Given the description of an element on the screen output the (x, y) to click on. 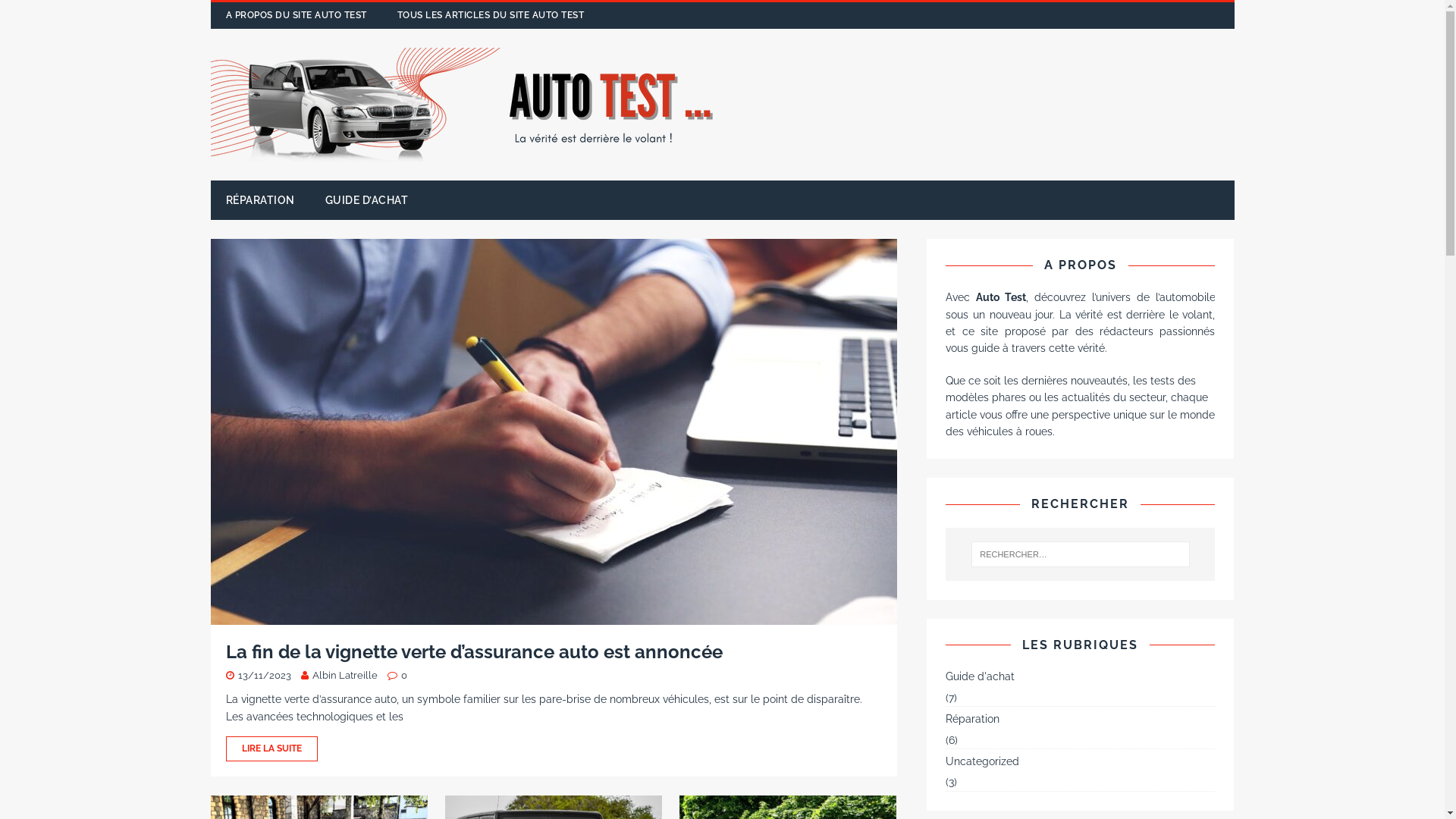
A PROPOS DU SITE AUTO TEST Element type: text (296, 15)
Uncategorized Element type: text (1079, 761)
TOUS LES ARTICLES DU SITE AUTO TEST Element type: text (490, 15)
Guide d'achat Element type: text (1079, 678)
LIRE LA SUITE Element type: text (553, 748)
Rechercher Element type: text (42, 13)
Albin Latreille Element type: text (344, 674)
0 Element type: text (403, 674)
